Given the description of an element on the screen output the (x, y) to click on. 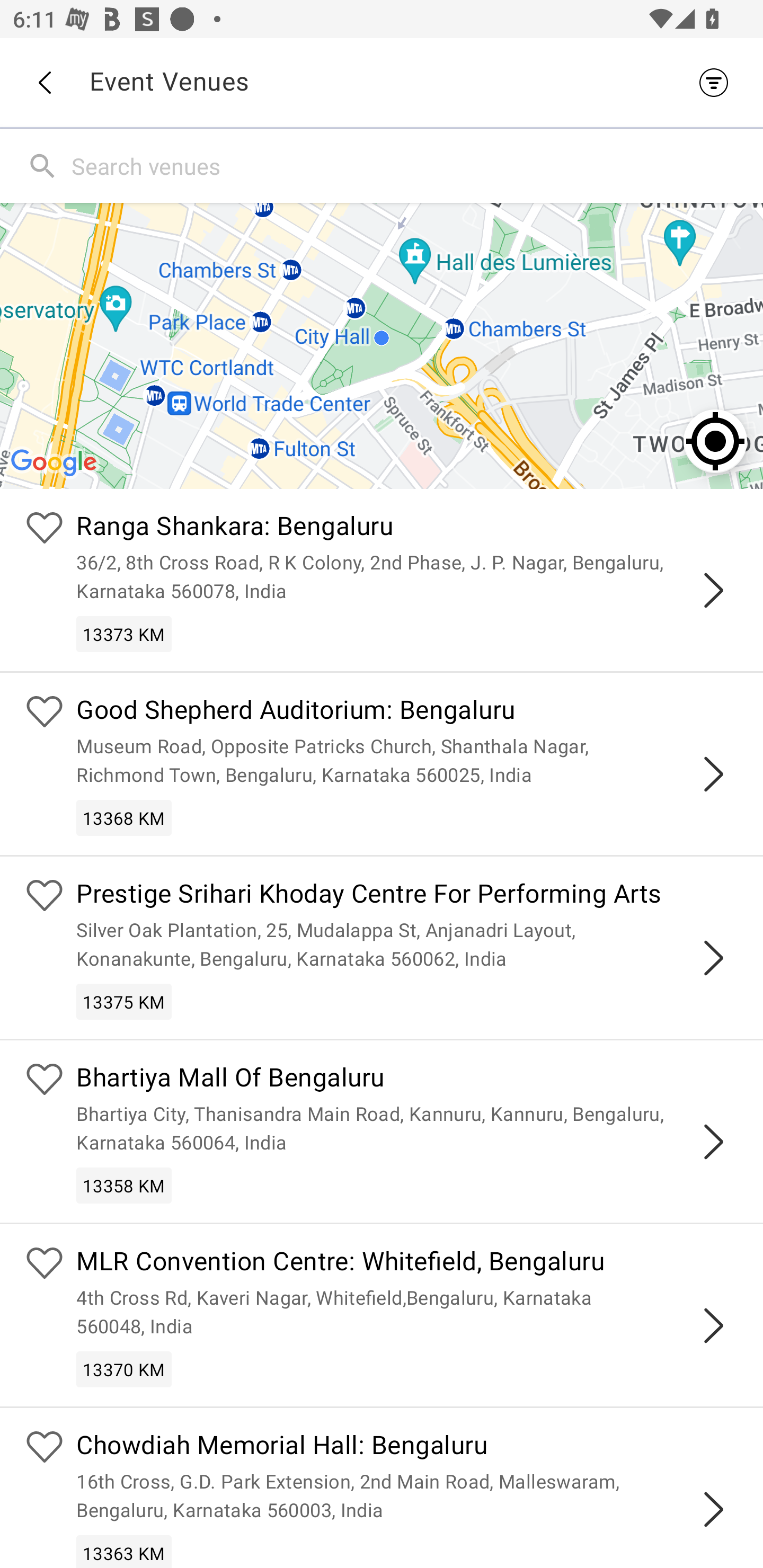
Back Event Venues Filter (381, 82)
Filter (718, 82)
Back (44, 82)
Search venues (413, 165)
Google Map Map Marker (381, 345)
Ranga Shankara: Bengaluru (406, 528)
 (713, 590)
13373 KM (123, 634)
Good Shepherd Auditorium: Bengaluru (406, 711)
 (713, 773)
13368 KM (123, 817)
Prestige Srihari Khoday Centre For Performing Arts (406, 894)
 (713, 957)
13375 KM (123, 1001)
Bhartiya Mall Of Bengaluru (406, 1079)
 (713, 1141)
13358 KM (123, 1186)
MLR Convention Centre: Whitefield, Bengaluru (406, 1263)
 (713, 1325)
13370 KM (123, 1369)
Chowdiah Memorial Hall: Bengaluru (406, 1446)
 (713, 1508)
13363 KM (123, 1551)
